Given the description of an element on the screen output the (x, y) to click on. 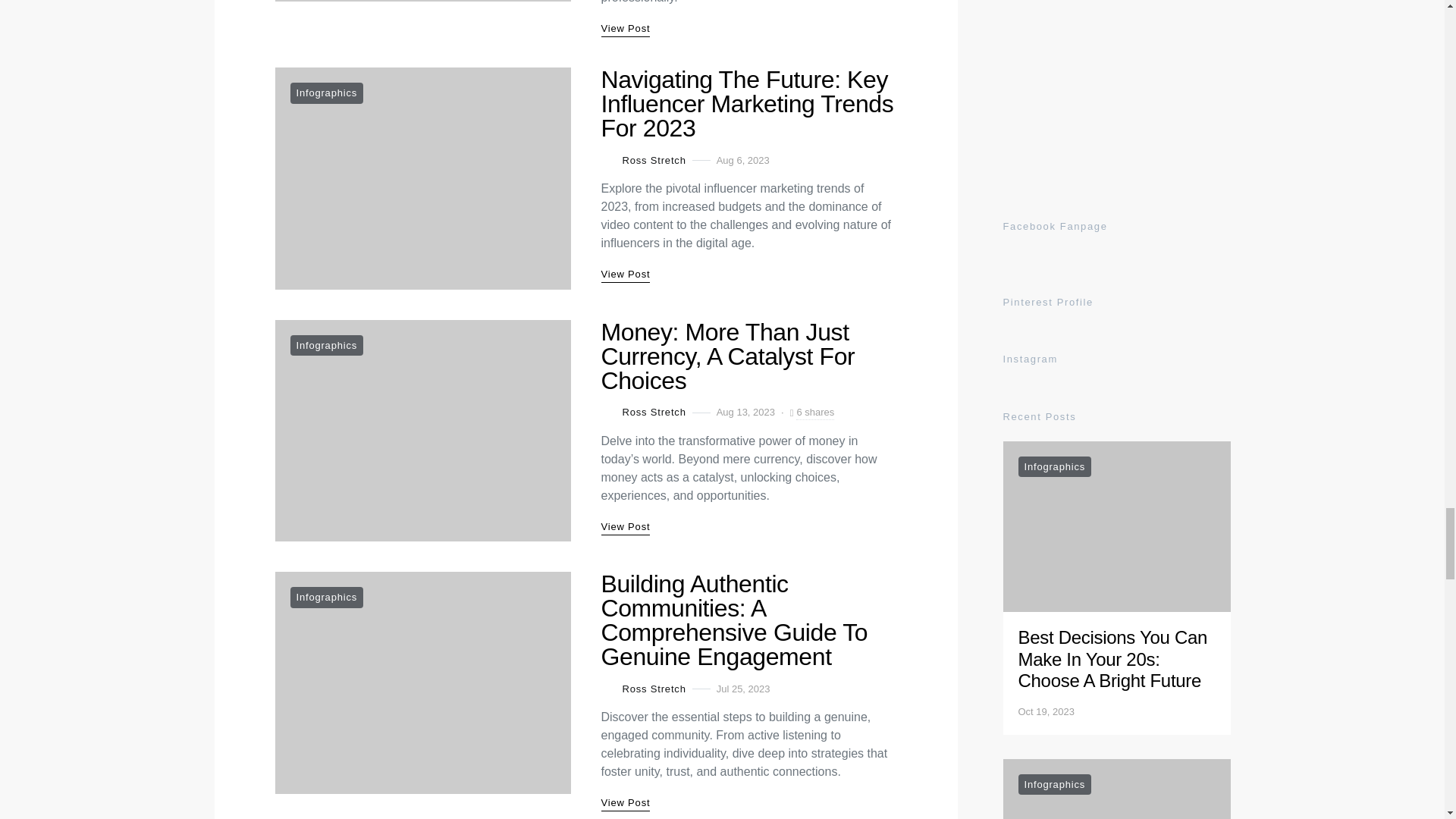
View all posts by Ross Stretch (642, 688)
View all posts by Ross Stretch (642, 412)
View all posts by Ross Stretch (642, 159)
